Given the description of an element on the screen output the (x, y) to click on. 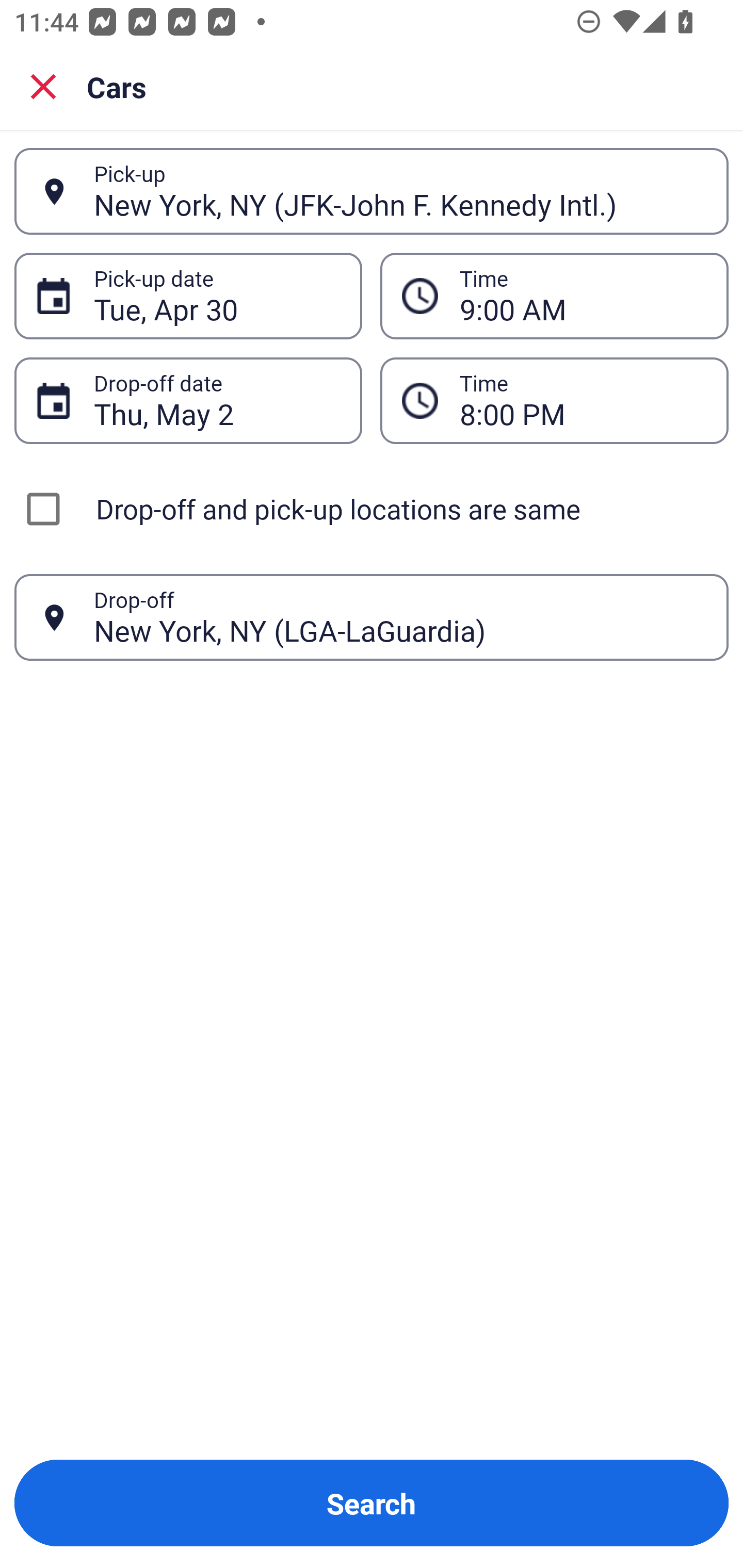
Close search screen (43, 86)
New York, NY (JFK-John F. Kennedy Intl.) Pick-up (371, 191)
New York, NY (JFK-John F. Kennedy Intl.) (399, 191)
Tue, Apr 30 Pick-up date (188, 295)
9:00 AM (554, 295)
Tue, Apr 30 (216, 296)
9:00 AM (582, 296)
Thu, May 2 Drop-off date (188, 400)
8:00 PM (554, 400)
Thu, May 2 (216, 400)
8:00 PM (582, 400)
Drop-off and pick-up locations are same (371, 508)
New York, NY (LGA-LaGuardia) Drop-off (371, 616)
New York, NY (LGA-LaGuardia) (399, 616)
Search Button Search (371, 1502)
